Given the description of an element on the screen output the (x, y) to click on. 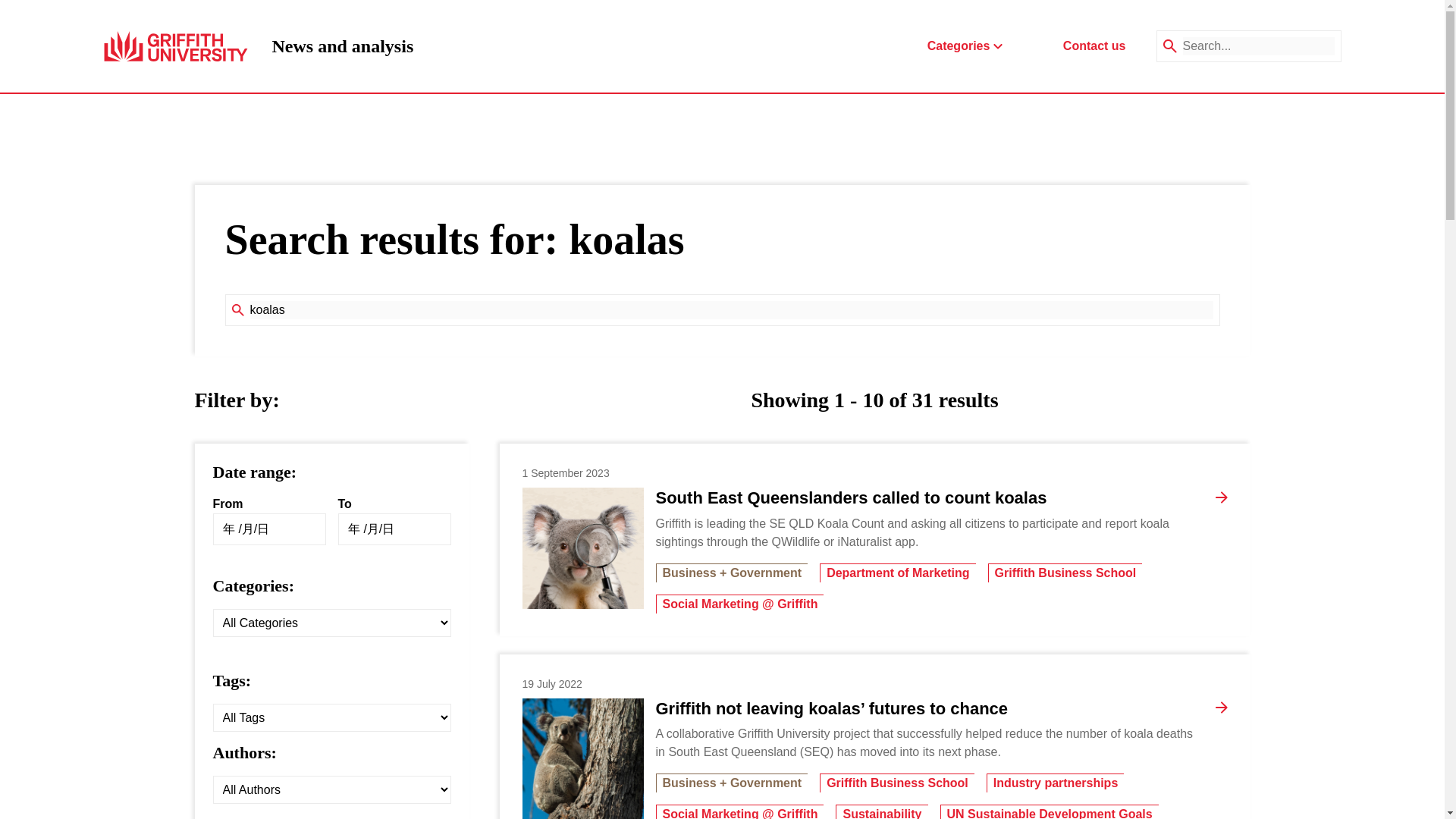
Search for: (731, 310)
Department of Marketing (897, 572)
Contact us (1093, 45)
South East Queenslanders called to count koalas (850, 497)
South East Queenslanders called to count koalas (341, 46)
South East Queenslanders called to count koalas (850, 497)
koalas (582, 548)
Griffith Business School (731, 310)
Griffith Business School (1065, 572)
koalas (896, 782)
